Given the description of an element on the screen output the (x, y) to click on. 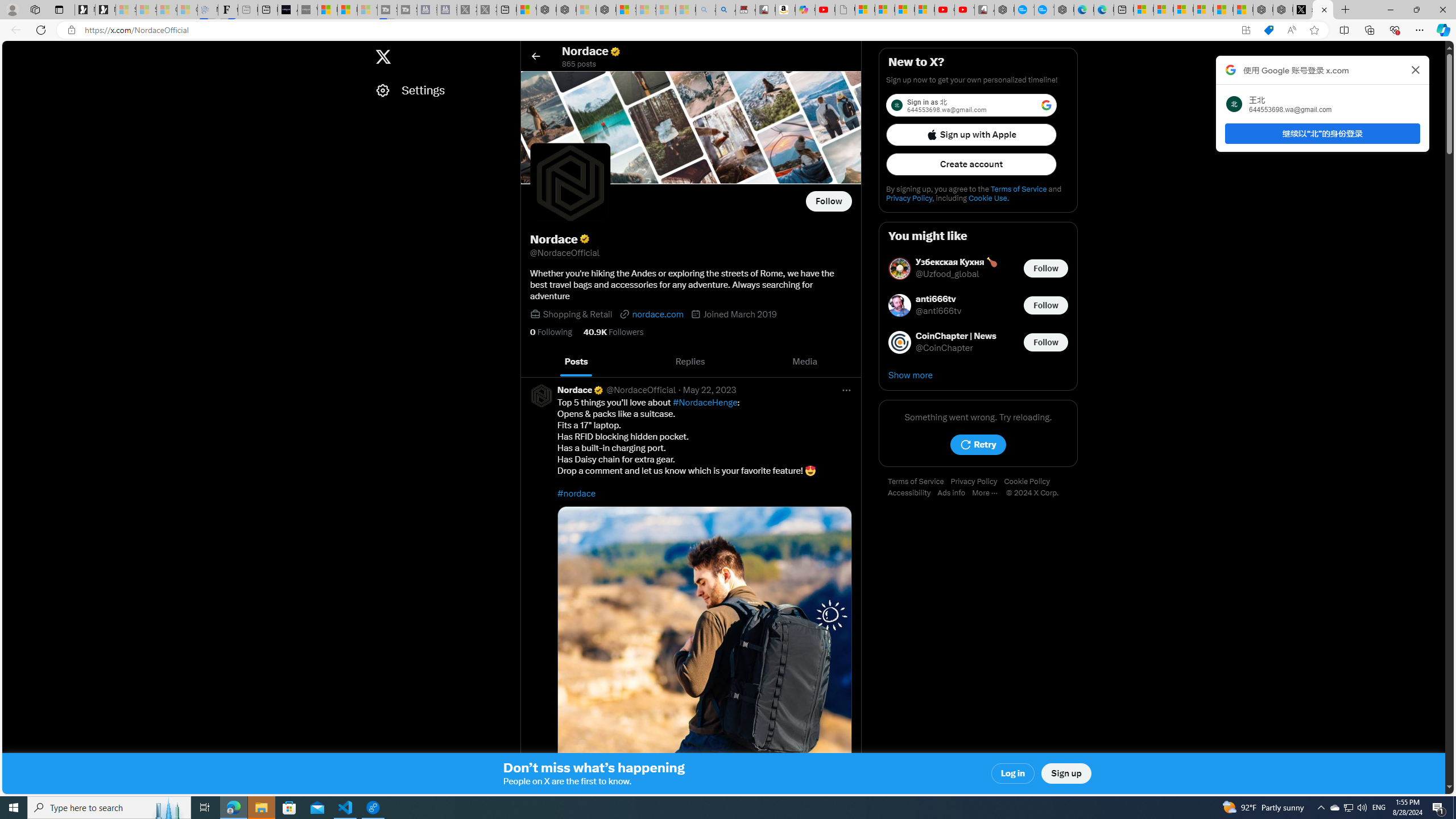
@anti666tv (938, 311)
App available. Install X (1245, 29)
Follow @anti666tv (1045, 304)
anti666tv @anti666tv Follow @anti666tv (978, 305)
What's the best AI voice generator? - voice.ai - Sleeping (306, 9)
Retry (978, 444)
May 22, 2023 (709, 389)
